Given the description of an element on the screen output the (x, y) to click on. 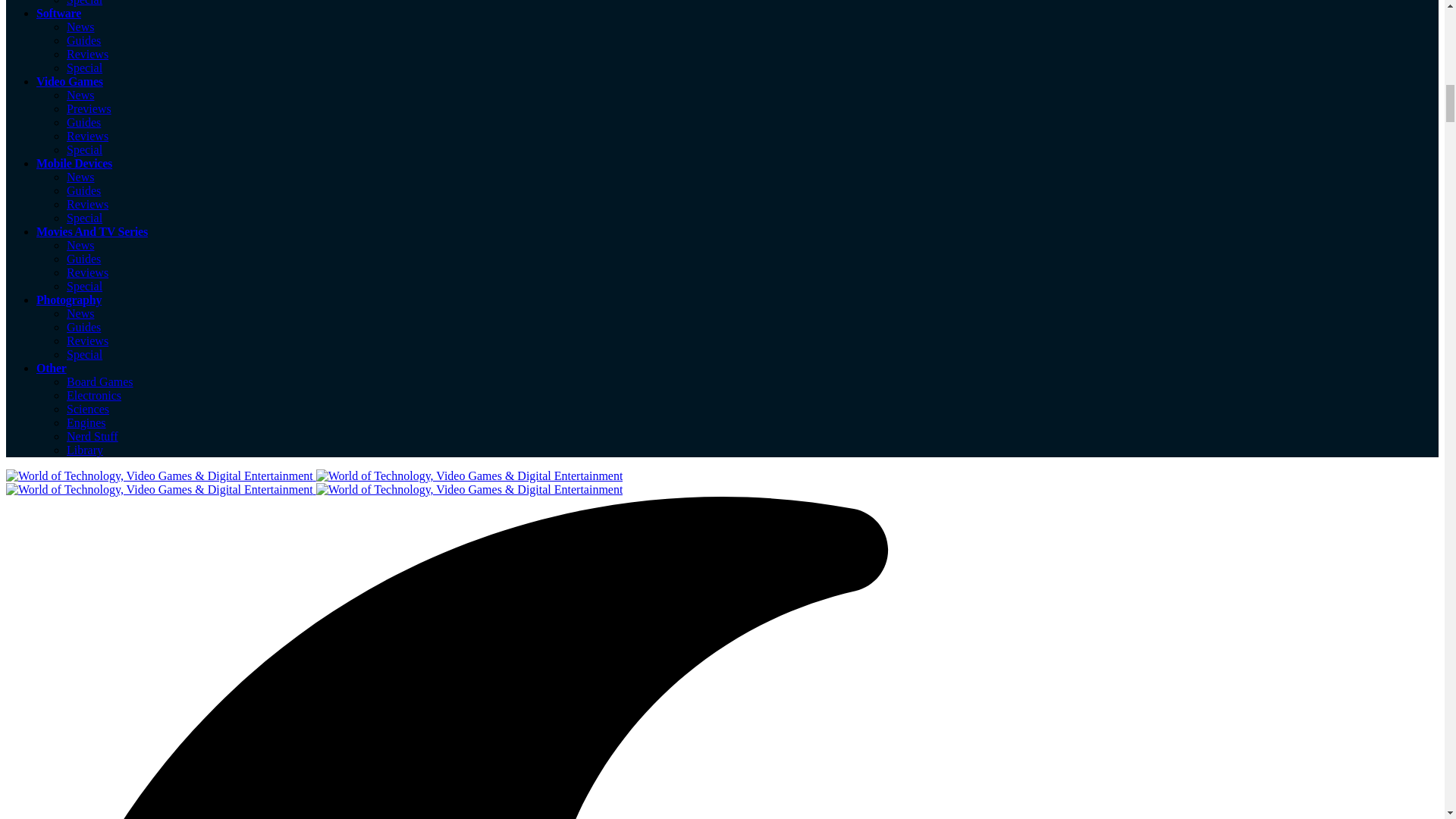
News (80, 313)
Special (83, 149)
Reviews (86, 272)
Video Games (69, 81)
Software (58, 12)
Guides (83, 122)
Movies And TV Series (92, 231)
Mobile Devices (74, 163)
Guides (83, 258)
Special (83, 217)
Photography (68, 299)
Reviews (86, 204)
Special (83, 67)
Previews (89, 108)
News (80, 94)
